Given the description of an element on the screen output the (x, y) to click on. 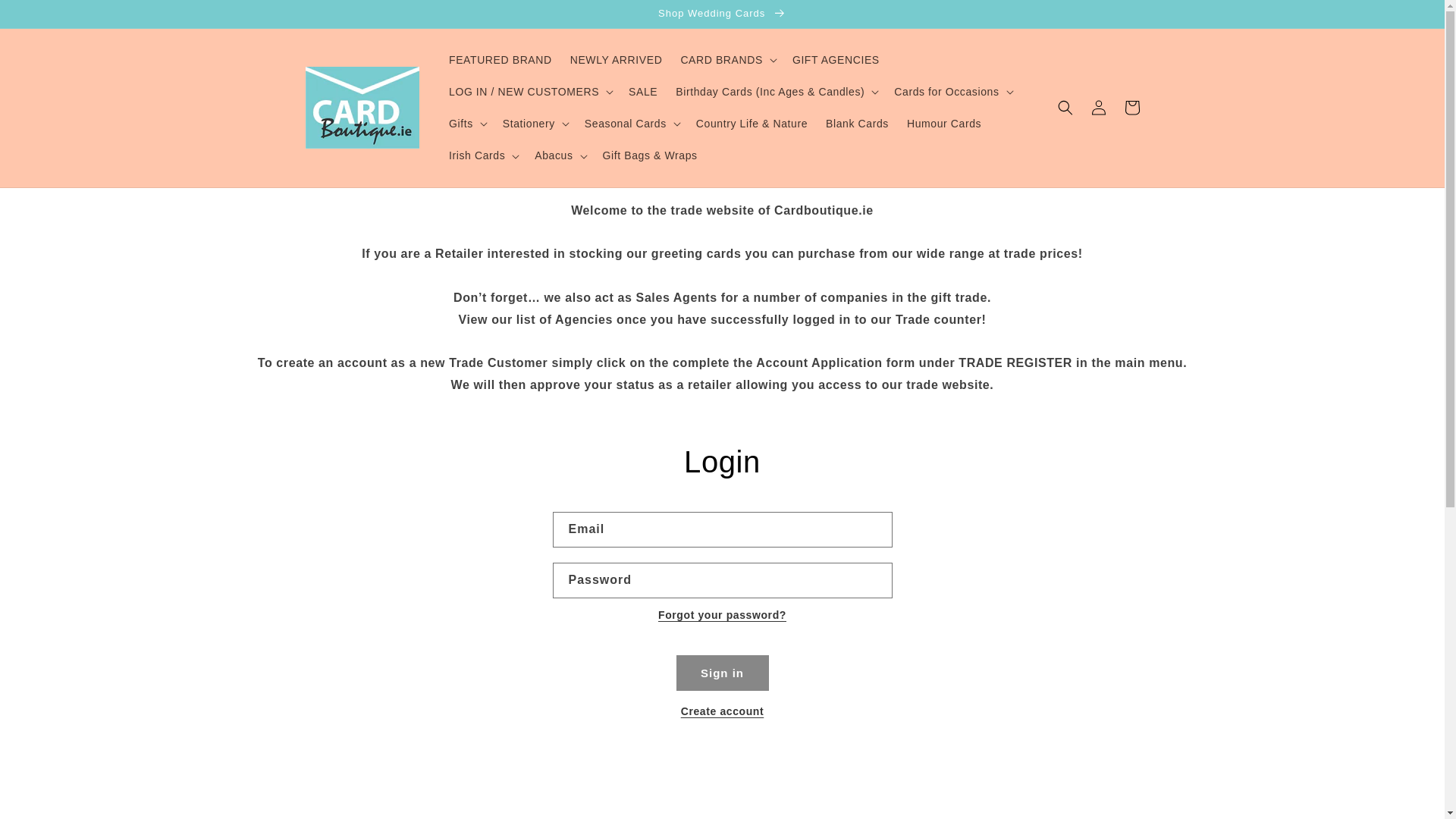
Skip to content (45, 17)
